Given the description of an element on the screen output the (x, y) to click on. 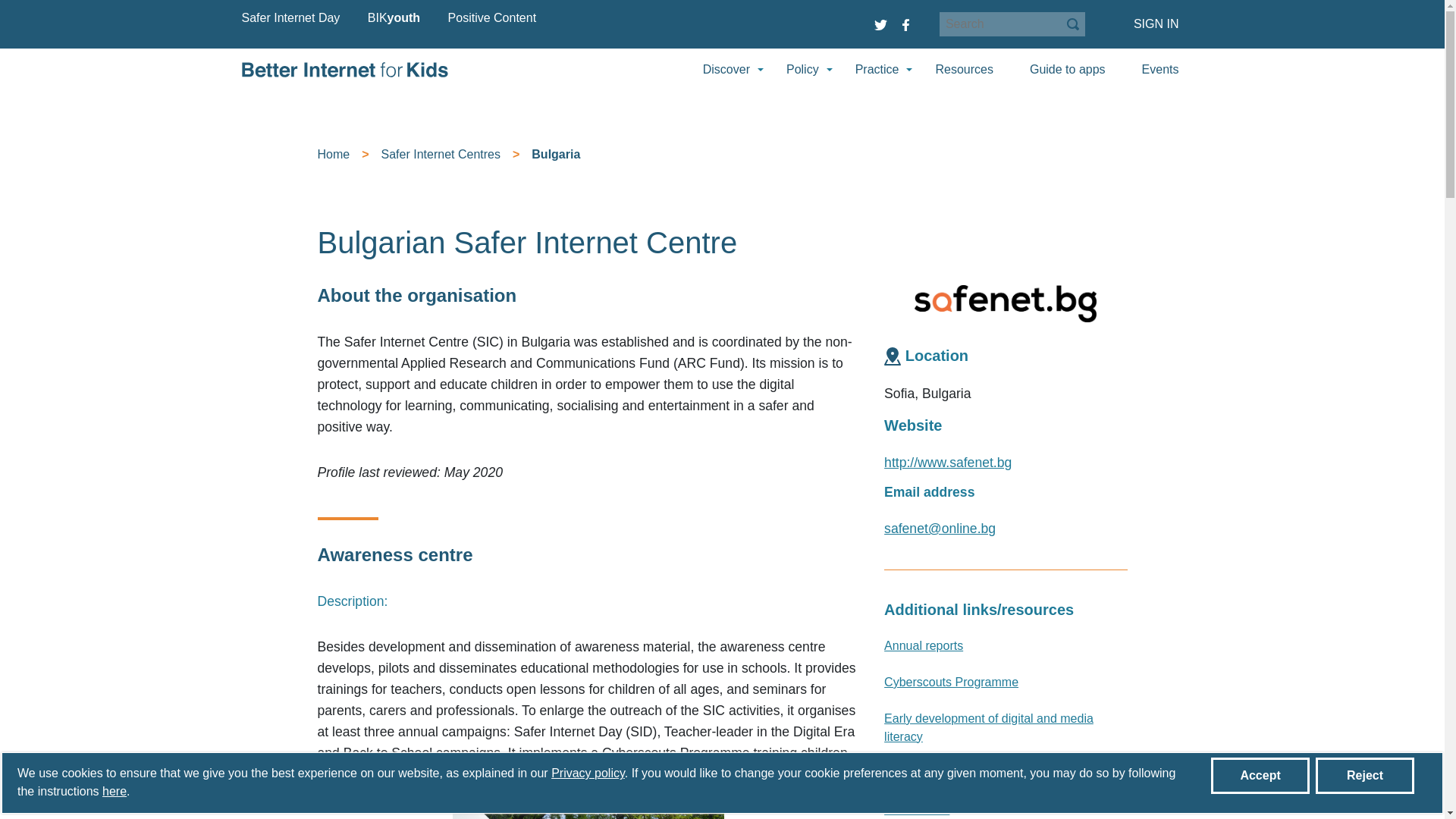
Positive Content (492, 17)
Reject (1364, 775)
Learn more about cookies (113, 790)
Resources (963, 69)
Policy (802, 69)
Reject Cookies (1364, 775)
Accept (1259, 775)
Guide to apps (1067, 69)
SIGN IN (1156, 23)
Privacy policy (587, 772)
Positive Content (492, 17)
Events (1160, 69)
Accept Cookies (1259, 775)
Practice (877, 69)
Safer Internet Day (290, 17)
